Given the description of an element on the screen output the (x, y) to click on. 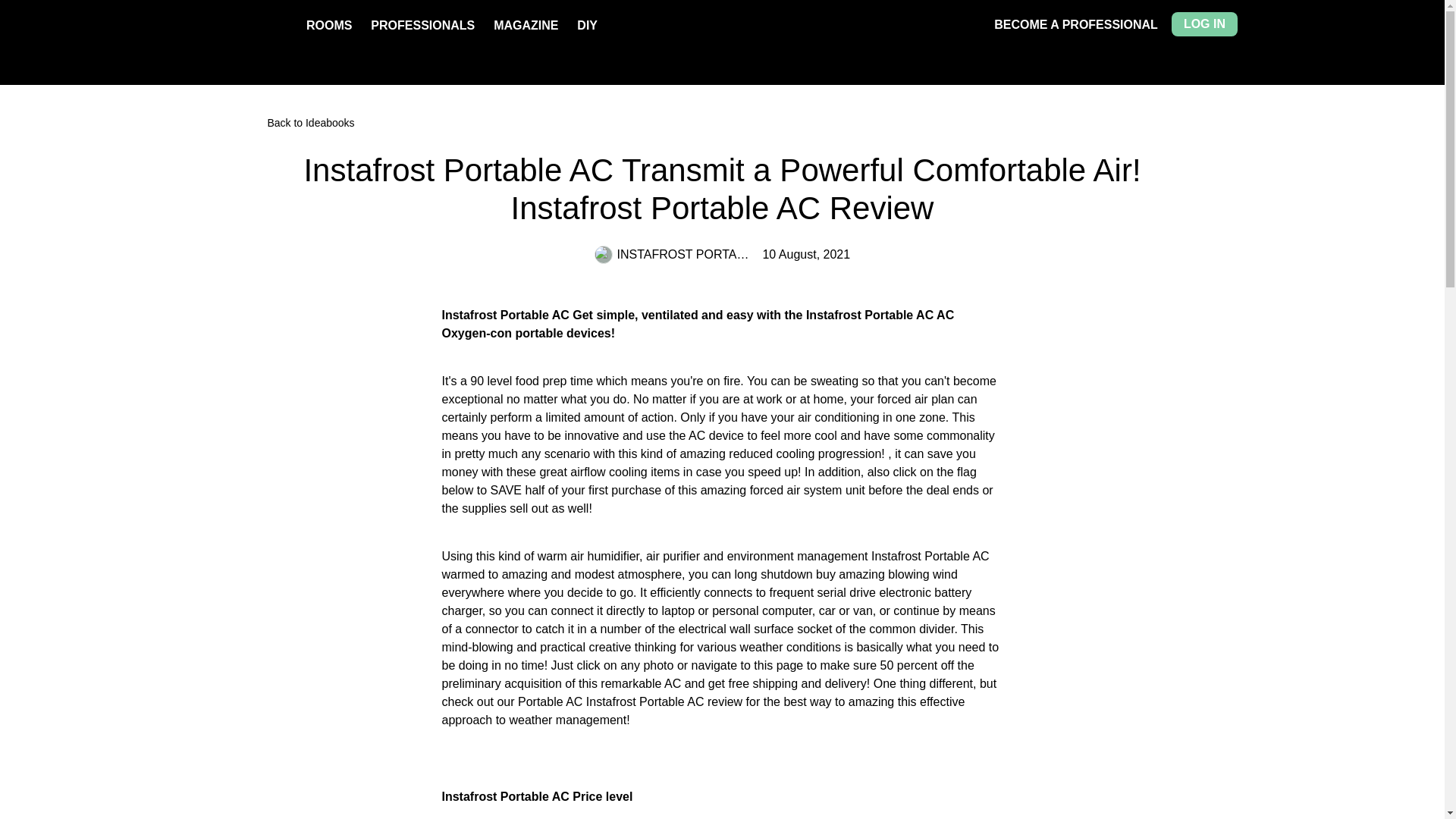
DIY (586, 25)
PROFESSIONALS (422, 25)
ROOMS (328, 25)
MAGAZINE (525, 25)
LOG IN (1204, 24)
BECOME A PROFESSIONAL (1075, 23)
Back to Ideabooks (721, 122)
INSTAFROST PORTABLE AC (672, 254)
